Given the description of an element on the screen output the (x, y) to click on. 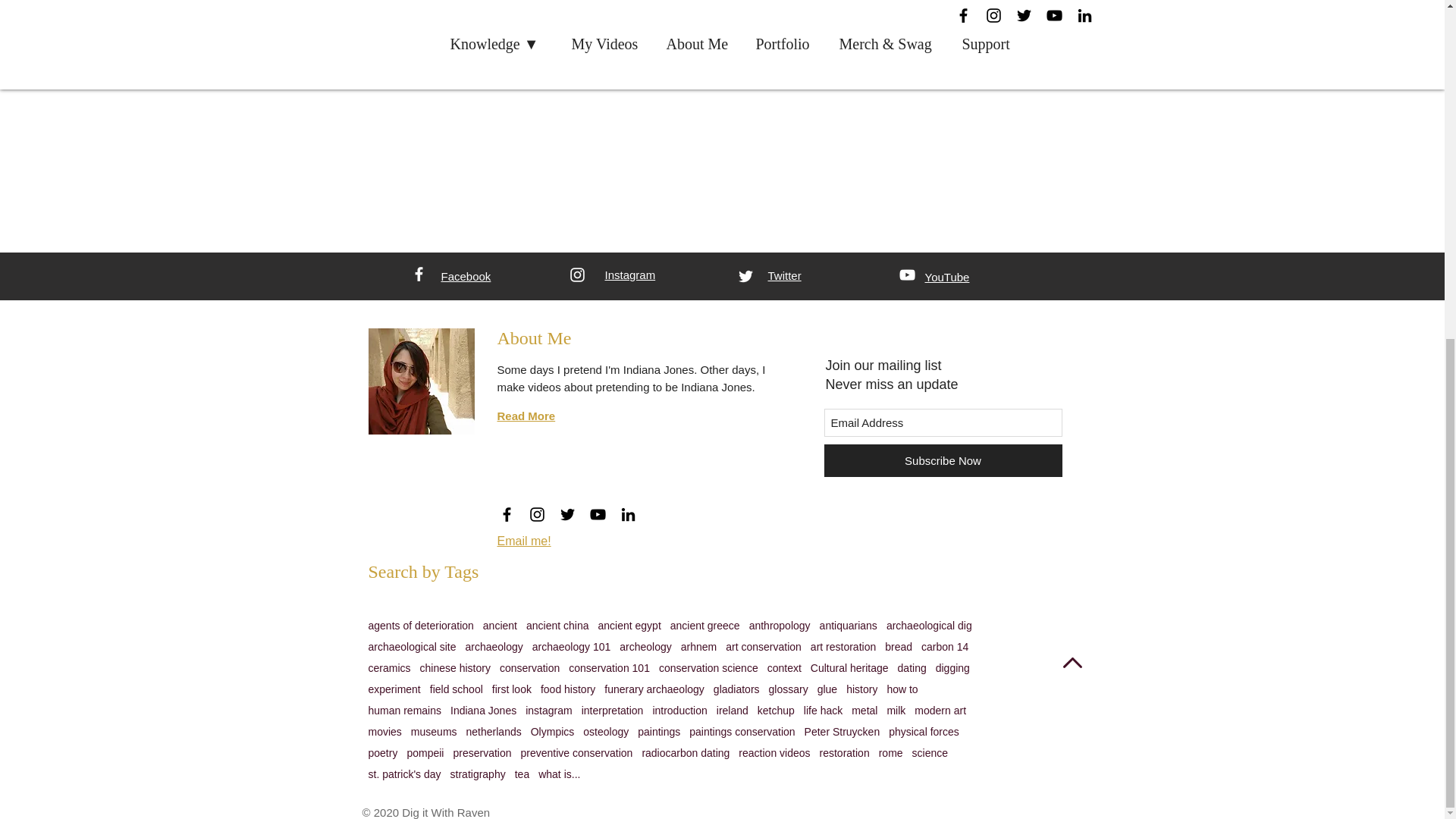
Subscribe Now (942, 460)
Instagram (630, 274)
Twitter (783, 275)
antiquarians (848, 625)
Email me! (524, 540)
ancient (499, 625)
ancient china (557, 625)
Facebook (466, 276)
YouTube (946, 277)
Read More (526, 415)
ancient egypt (628, 625)
ancient greece (704, 625)
agents of deterioration (421, 625)
anthropology (779, 625)
